Given the description of an element on the screen output the (x, y) to click on. 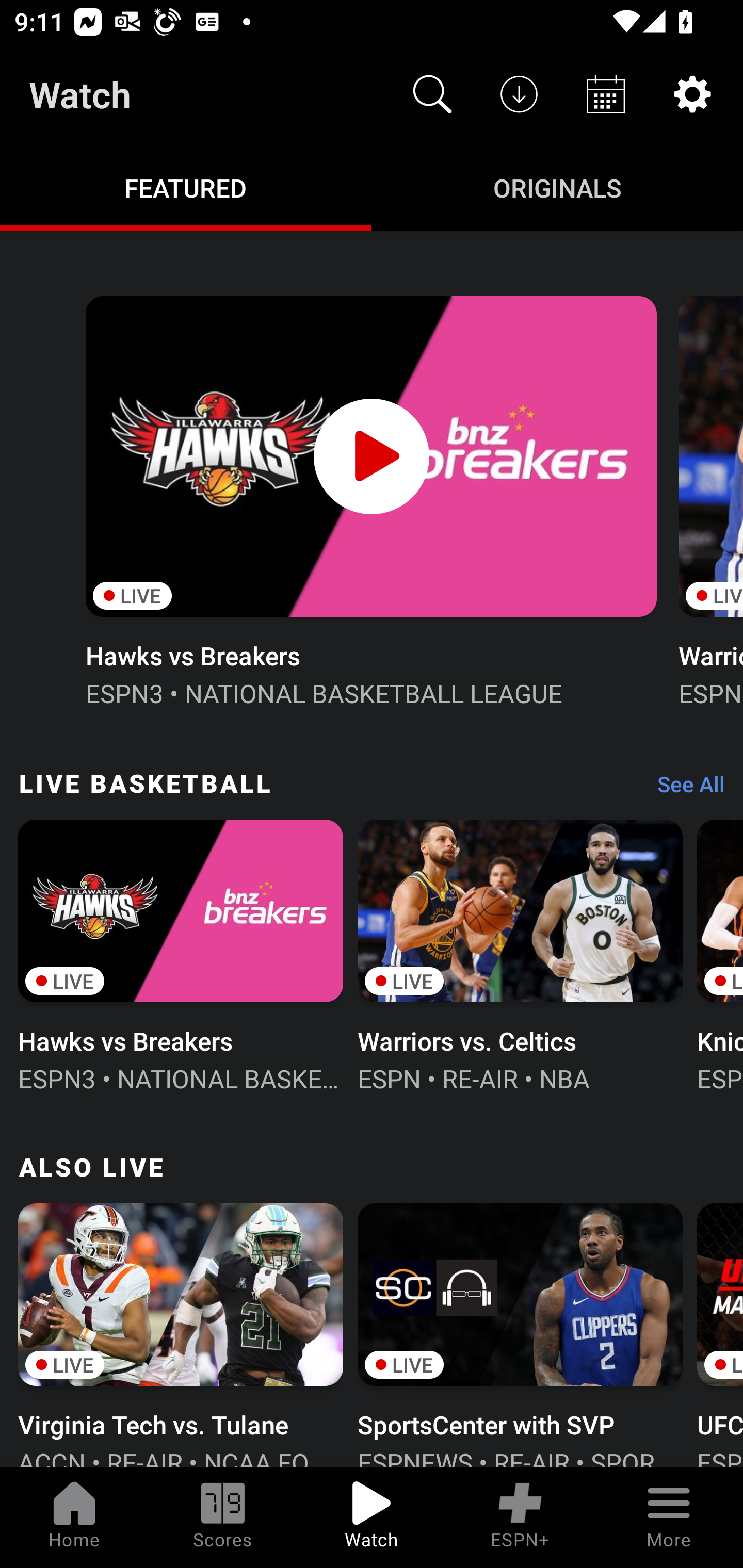
Search (432, 93)
Downloads (518, 93)
Schedule (605, 93)
Settings (692, 93)
Originals ORIGINALS (557, 187)
See All (683, 788)
LIVE Warriors vs. Celtics ESPN • RE-AIR • NBA (519, 954)
Home (74, 1517)
Scores (222, 1517)
ESPN+ (519, 1517)
More (668, 1517)
